Given the description of an element on the screen output the (x, y) to click on. 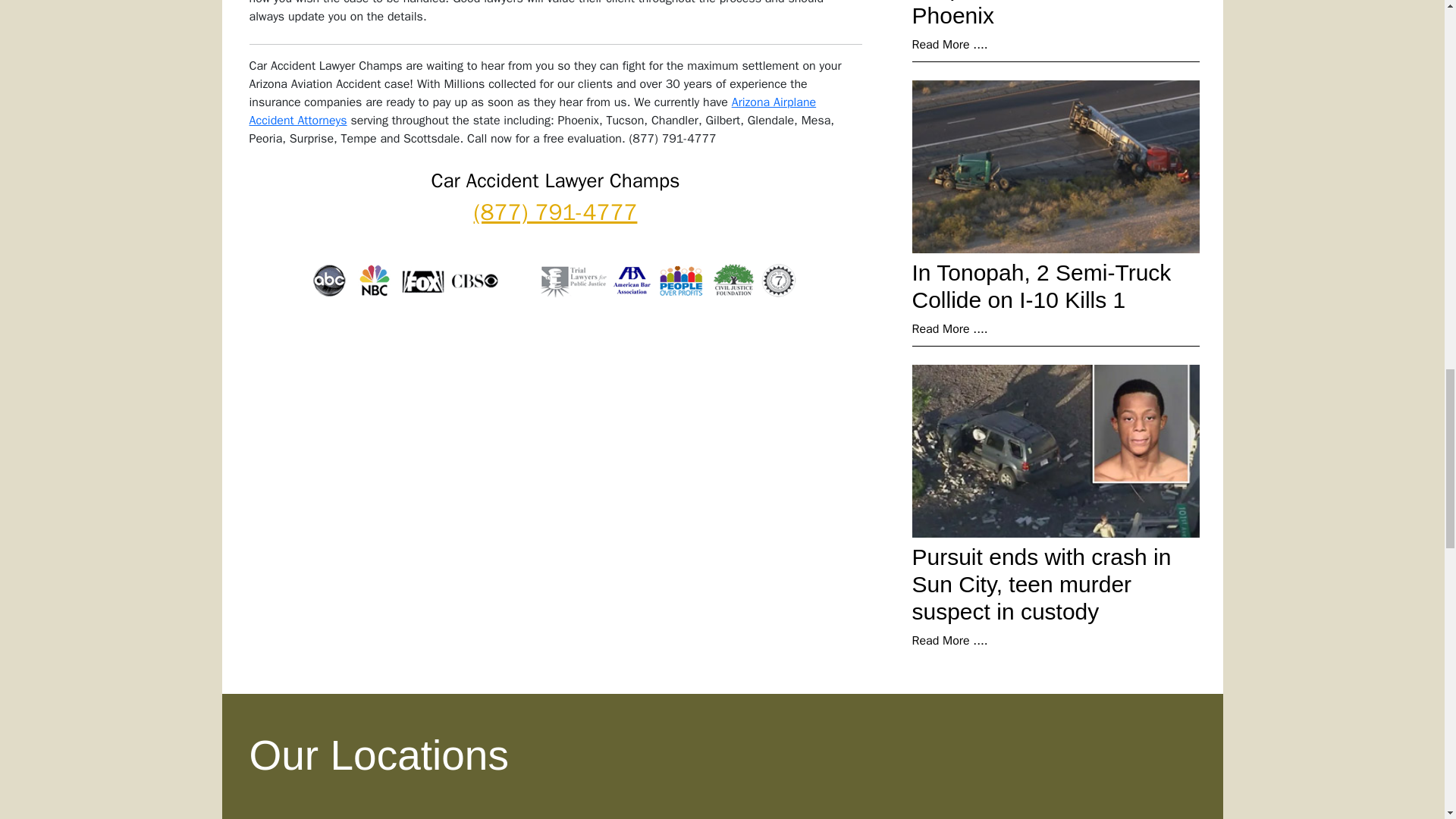
In Tonopah, 2 Semi-Truck Collide on I-10 Kills 1 (1040, 286)
Read More .... (949, 640)
Arizona Airplane Accident Attorneys (531, 111)
Arizona Airplane Accident Attorneys (531, 111)
DUI Wrong-Way Crash on Loop 202 Kills Child in Phoenix (1042, 13)
Read More .... (949, 44)
Read More .... (949, 328)
